Given the description of an element on the screen output the (x, y) to click on. 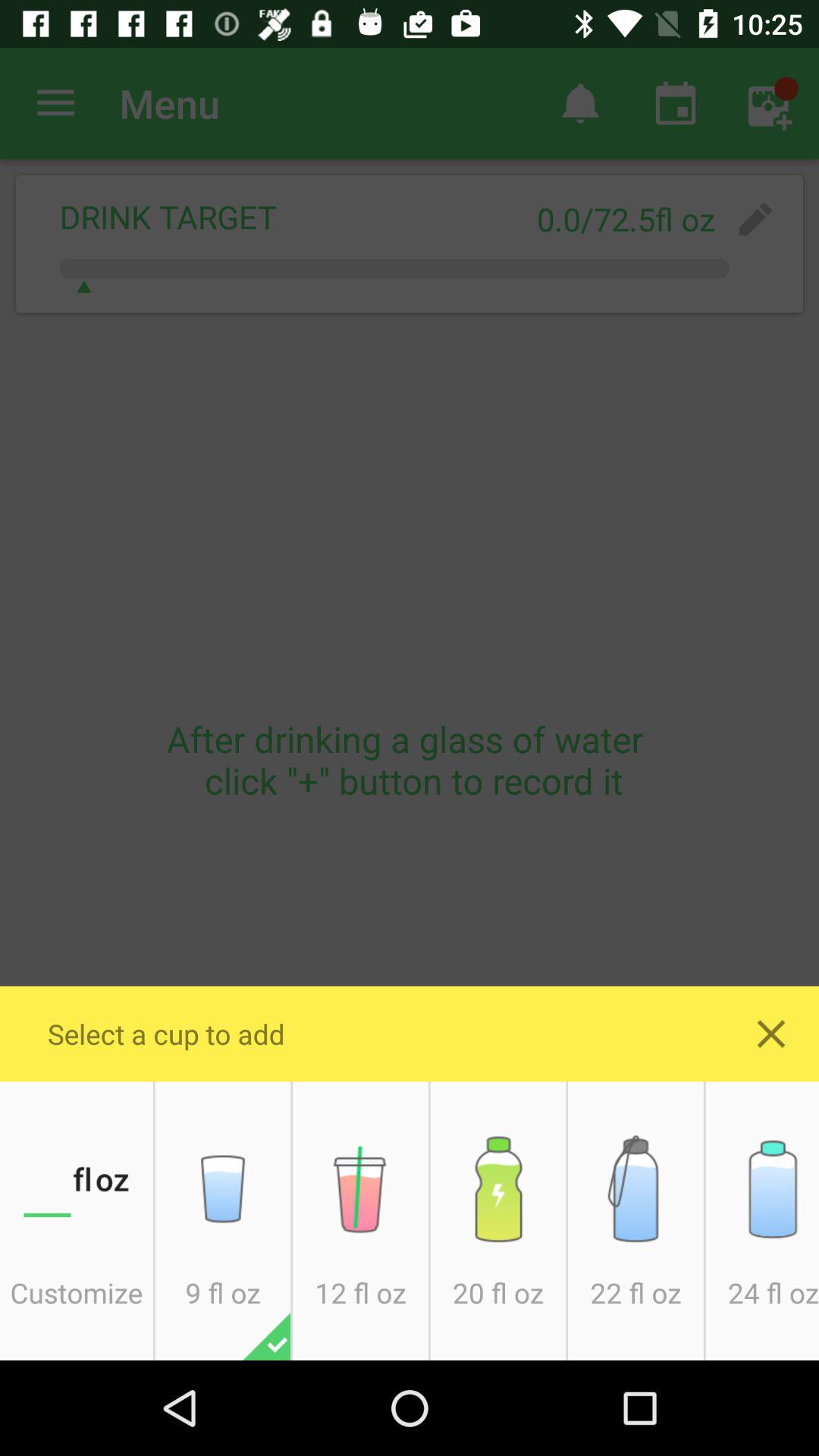
choose icon next to the select a cup item (771, 1033)
